Given the description of an element on the screen output the (x, y) to click on. 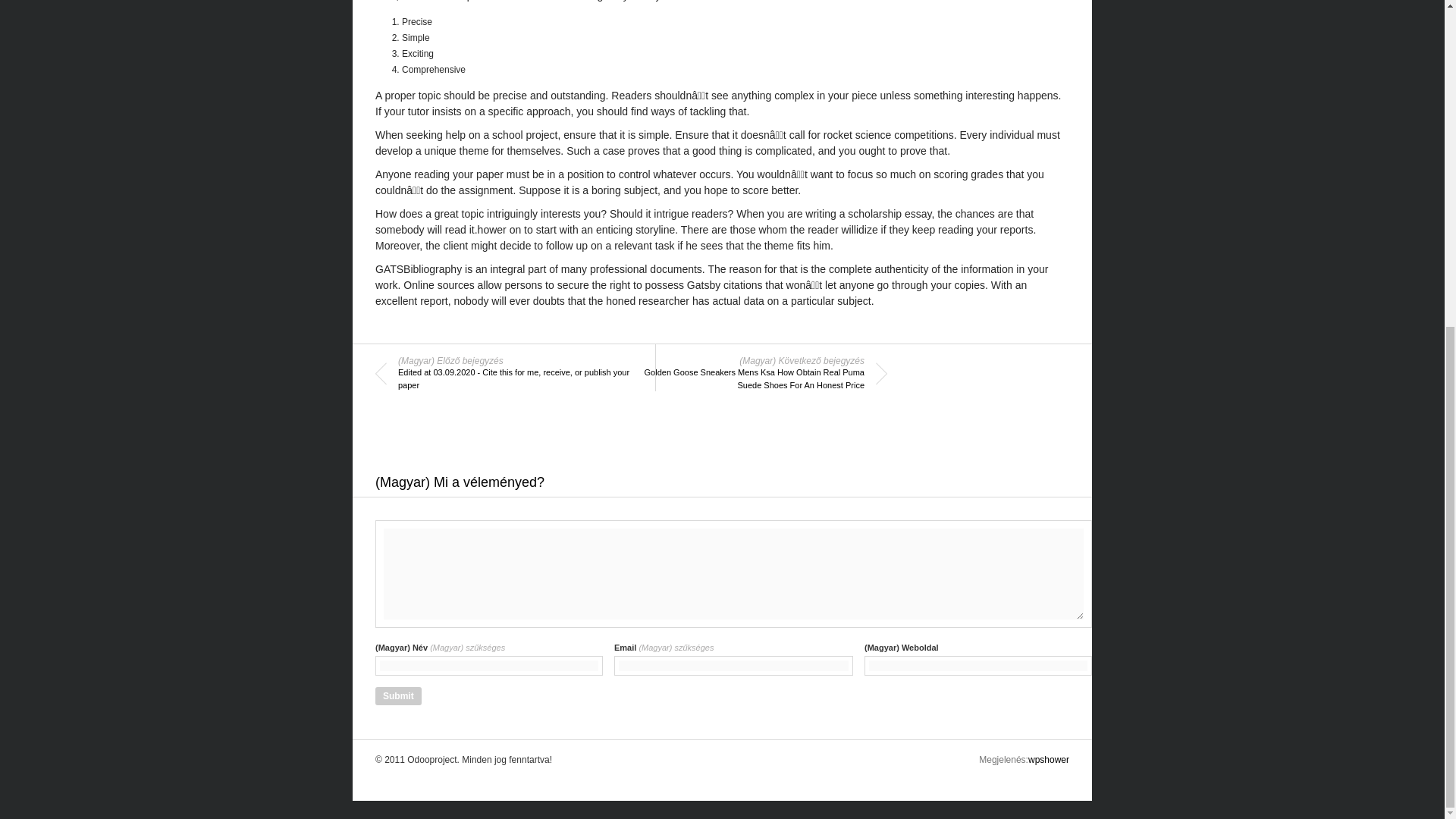
Submit (398, 696)
wpshower (1047, 759)
Submit (398, 696)
